Given the description of an element on the screen output the (x, y) to click on. 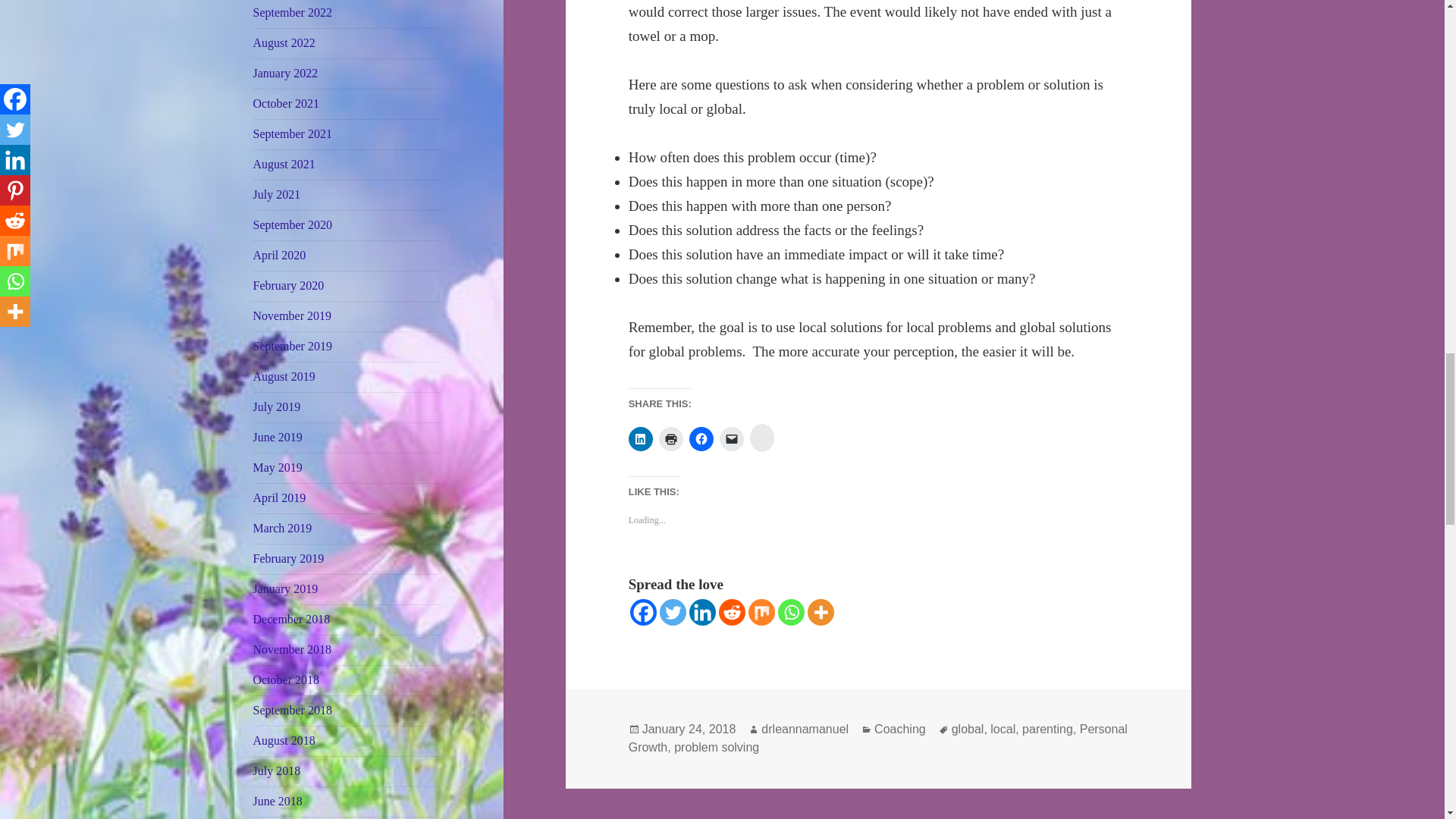
Click to share on Facebook (700, 438)
Click to email a link to a friend (731, 438)
Facebook (643, 611)
January 2022 (285, 72)
Click to print (670, 438)
August 2022 (284, 42)
Click to share on LinkedIn (640, 438)
September 2022 (292, 11)
